Given the description of an element on the screen output the (x, y) to click on. 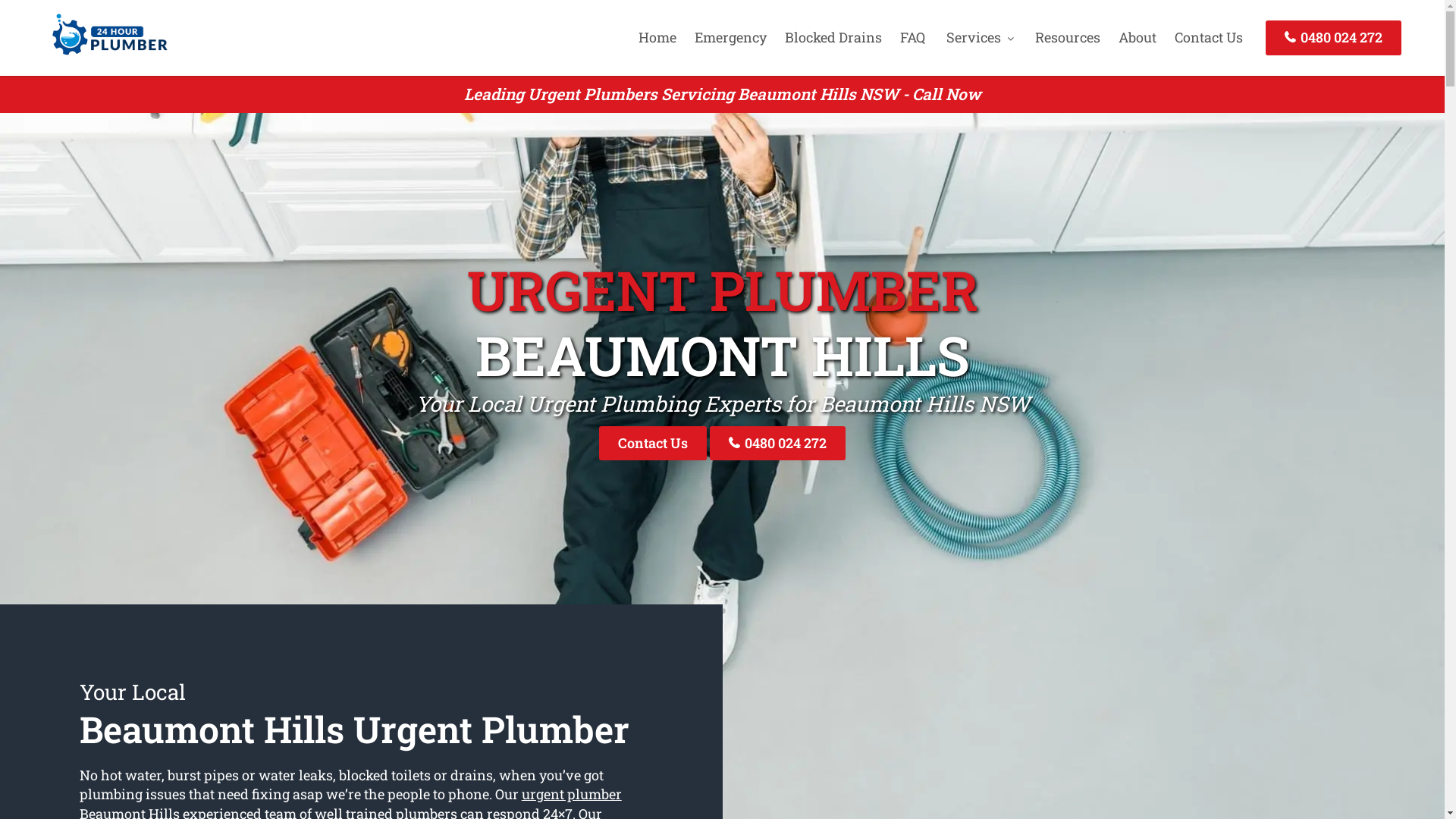
Contact Us Element type: text (652, 443)
Home Element type: text (657, 37)
24 Hour Plumber Element type: hover (105, 56)
About Element type: text (1137, 37)
Resources Element type: text (1067, 37)
0480 024 272 Element type: text (1333, 37)
Emergency Element type: text (730, 37)
FAQ Element type: text (912, 37)
Services Element type: text (979, 37)
Contact Us Element type: text (1208, 37)
Blocked Drains Element type: text (833, 37)
0480 024 272 Element type: text (777, 443)
